Given the description of an element on the screen output the (x, y) to click on. 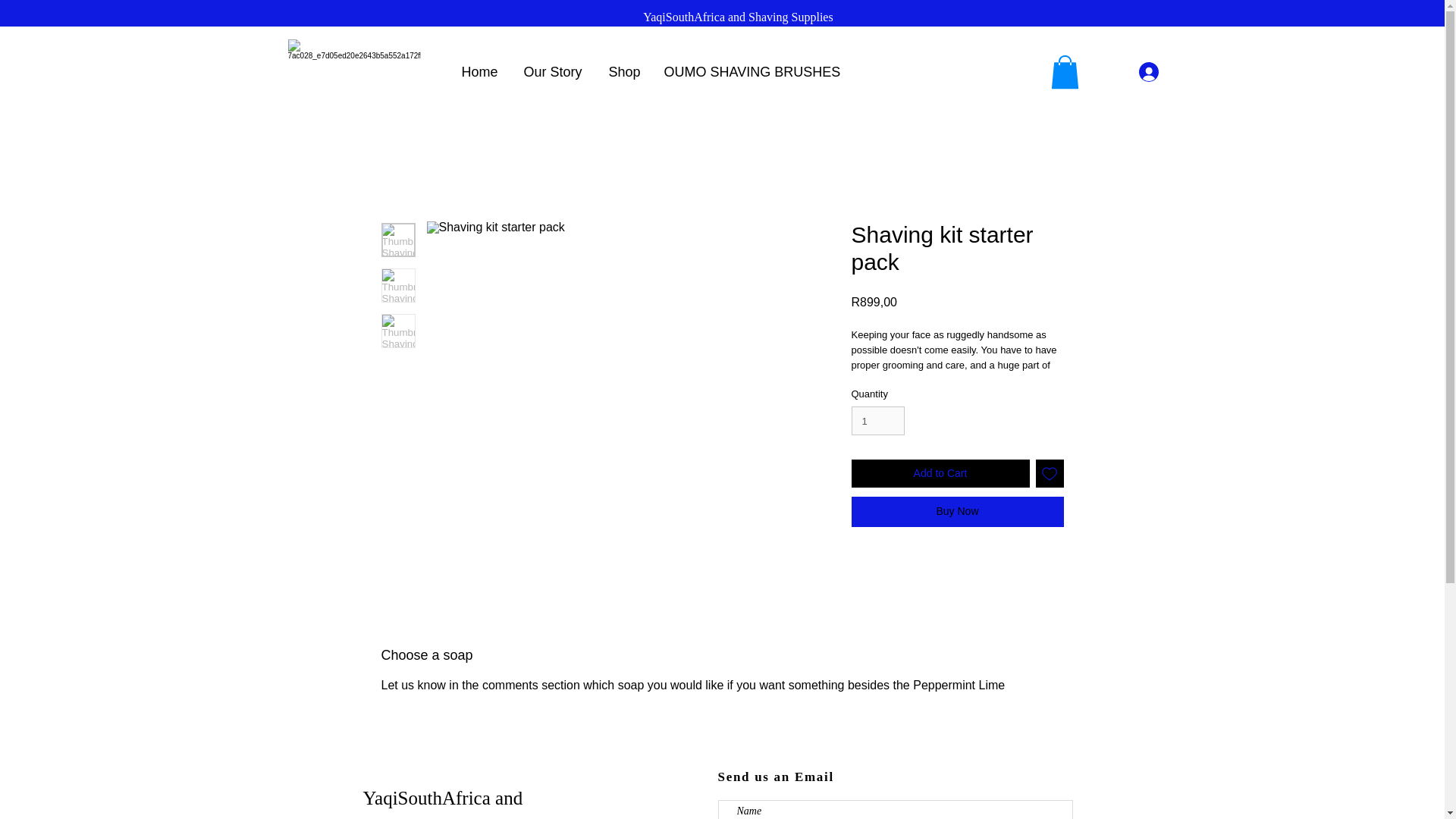
Our Story (554, 71)
YaqiSouthAfrica and Shaving Supplies (442, 803)
Add to Cart (939, 473)
Buy Now (956, 511)
OUMO SHAVING BRUSHES (745, 71)
Home (480, 71)
Shop (624, 71)
YaqiSouthAfrica and Shaving Supplies (737, 16)
Log In (1168, 71)
1 (877, 420)
